Given the description of an element on the screen output the (x, y) to click on. 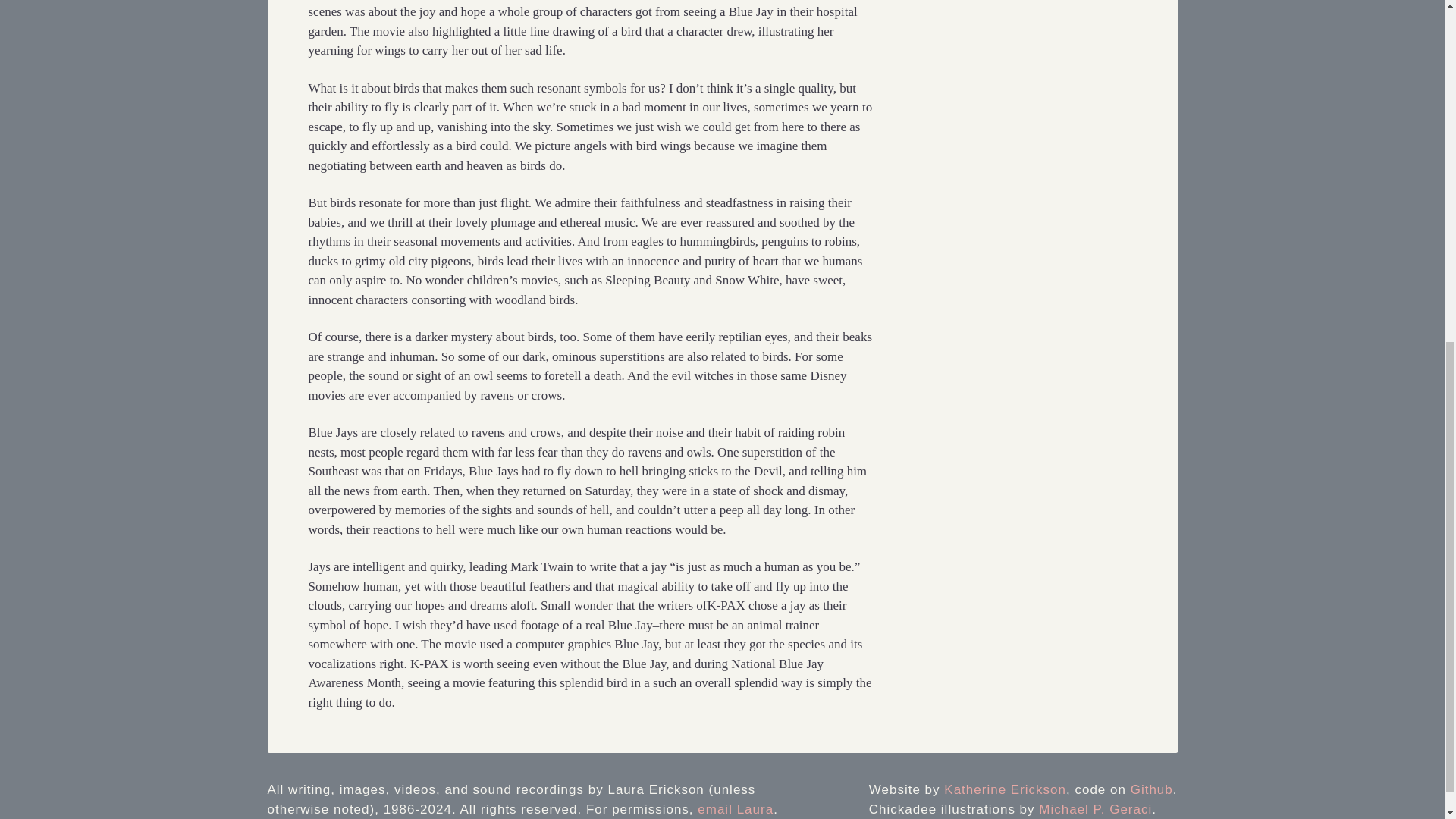
Github (1152, 789)
email Laura (735, 809)
Michael P. Geraci (1095, 809)
Katherine Erickson (1004, 789)
